Given the description of an element on the screen output the (x, y) to click on. 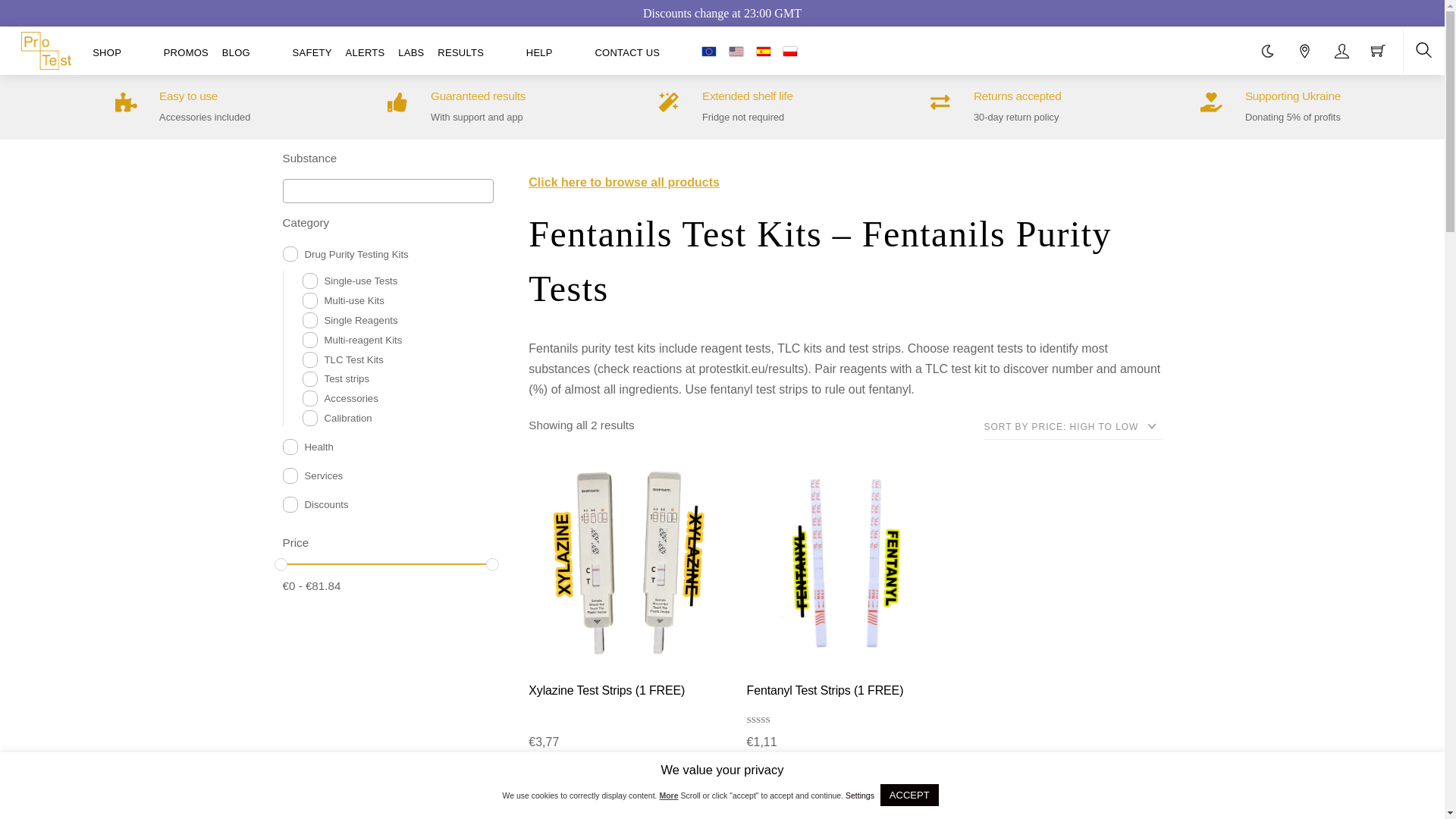
accessories (309, 398)
PRO Test (46, 47)
multiple-use-test-kits (309, 300)
calibration (309, 417)
SHOP (121, 52)
discounts (290, 504)
test-strips (309, 379)
tlc-test-kits (309, 359)
health (290, 446)
Discounts change at 23:00 GMT (722, 12)
services (290, 475)
drug-purity-testing-kits (290, 254)
Fentanyl test strips (845, 561)
single-reagents (309, 320)
multi-reagent-kits (309, 340)
